Given the description of an element on the screen output the (x, y) to click on. 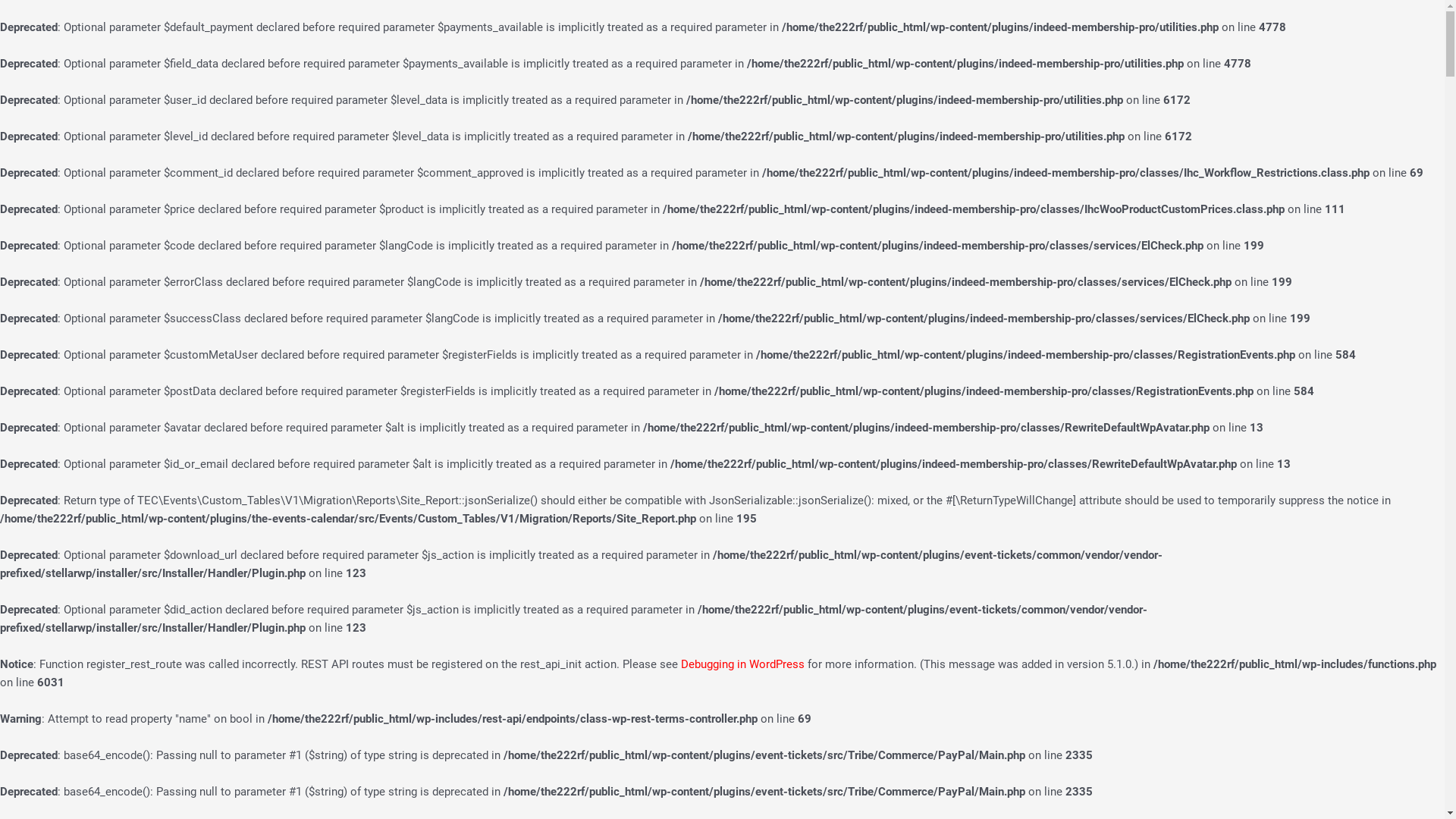
Debugging in WordPress Element type: text (742, 664)
